Given the description of an element on the screen output the (x, y) to click on. 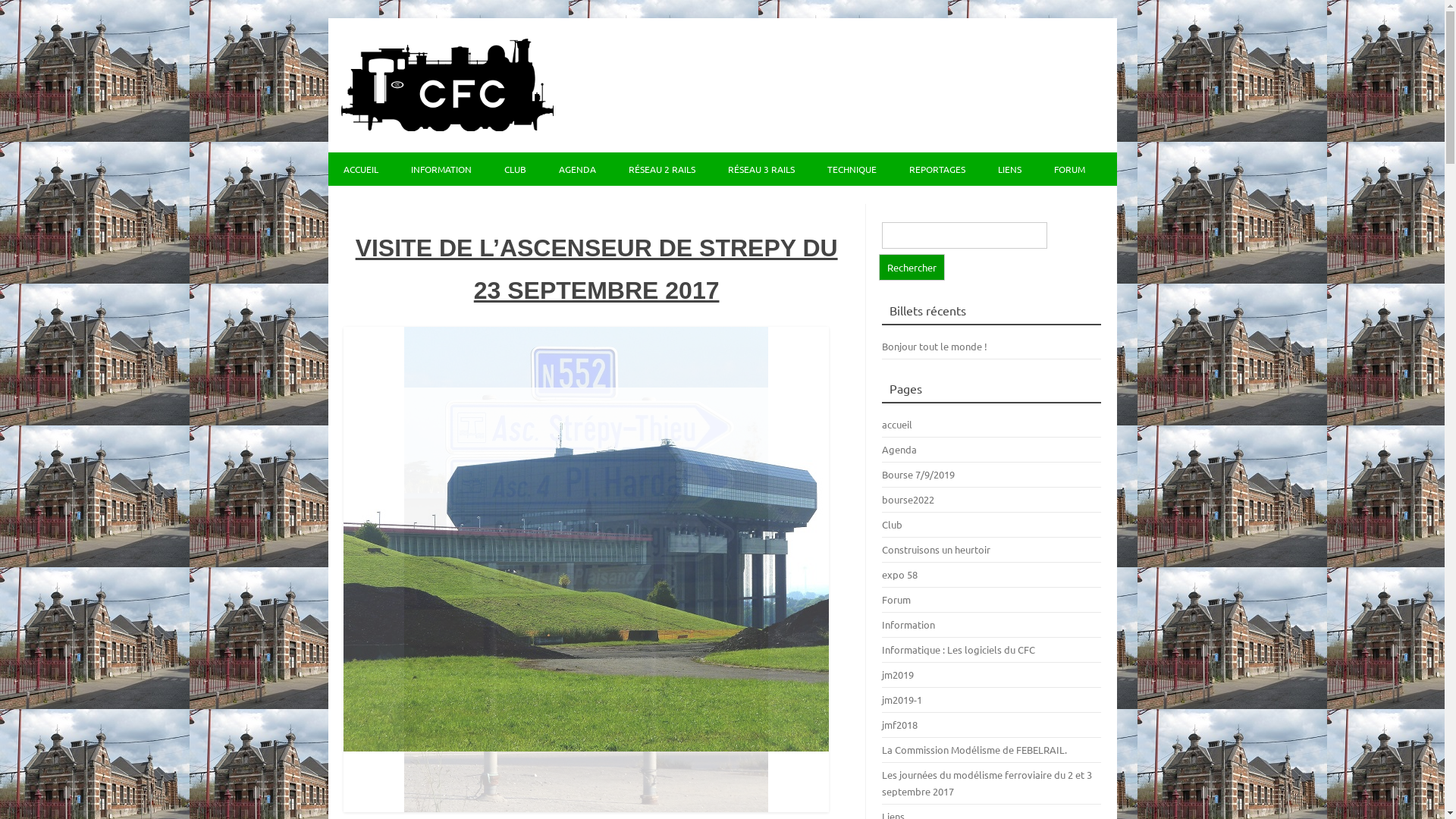
Bourse 7/9/2019 Element type: text (917, 473)
jm2019-1 Element type: text (901, 699)
Agenda Element type: text (898, 448)
jm2019 Element type: text (897, 674)
Club Ferroviaire de Centre Element type: hover (447, 126)
accueil Element type: text (896, 423)
INFORMATION Element type: text (440, 168)
Construisons un heurtoir Element type: text (935, 548)
Bonjour tout le monde ! Element type: text (934, 345)
LIENS Element type: text (1009, 168)
Forum Element type: text (895, 599)
Passer au contenu Element type: text (765, 157)
1 Element type: hover (585, 569)
AGENDA Element type: text (576, 168)
expo 58 Element type: text (899, 573)
ACCUEIL Element type: text (359, 168)
bourse2022 Element type: text (907, 498)
Information Element type: text (908, 624)
jmf2018 Element type: text (899, 724)
TECHNIQUE Element type: text (851, 168)
FORUM Element type: text (1069, 168)
Rechercher Element type: text (911, 267)
CLUB Element type: text (514, 168)
Informatique : Les logiciels du CFC Element type: text (958, 649)
Club Element type: text (891, 523)
REPORTAGES Element type: text (936, 168)
